Given the description of an element on the screen output the (x, y) to click on. 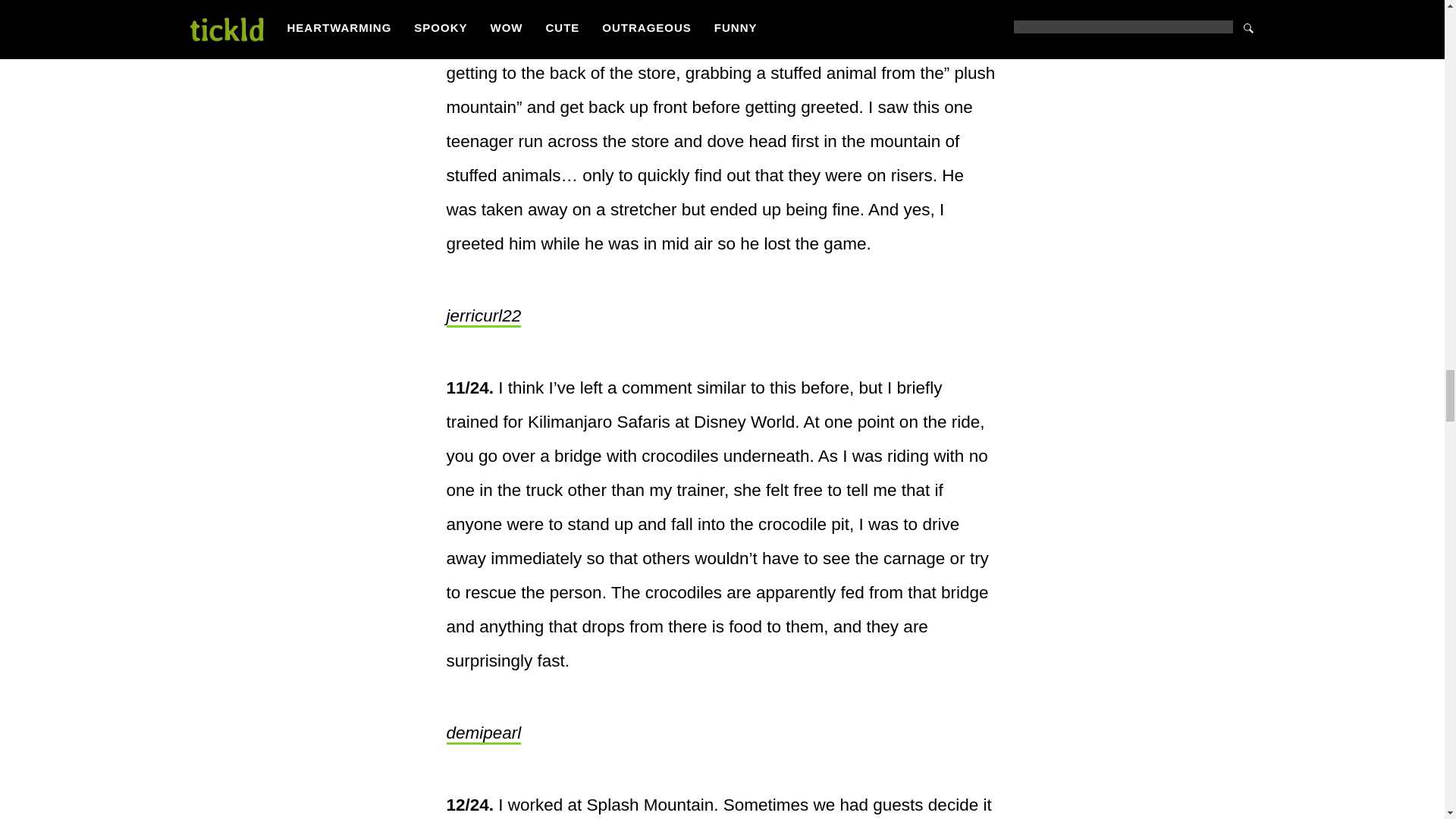
demipearl (483, 733)
jerricurl22 (483, 316)
